Given the description of an element on the screen output the (x, y) to click on. 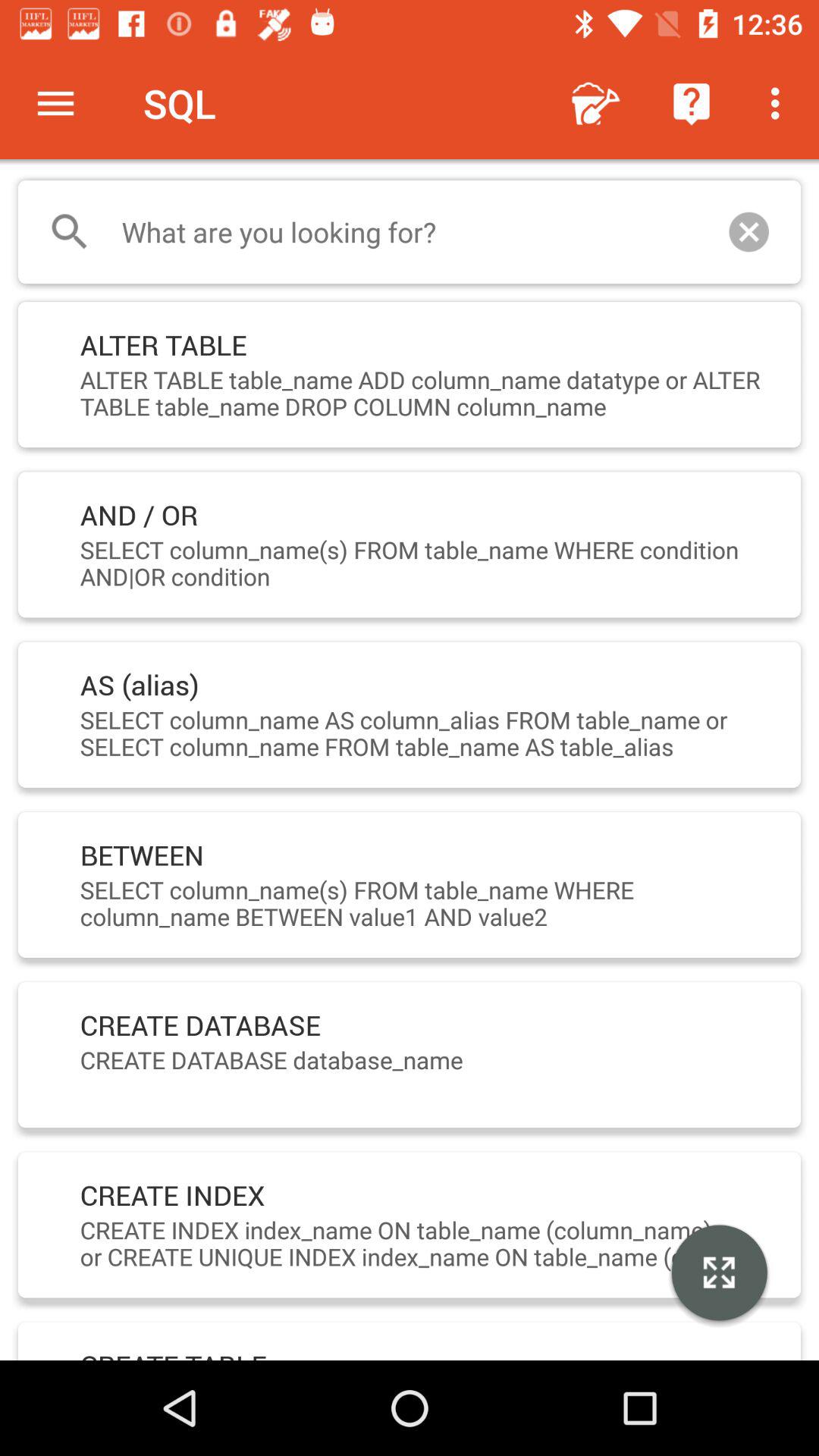
press the icon to the right of sql (595, 103)
